Given the description of an element on the screen output the (x, y) to click on. 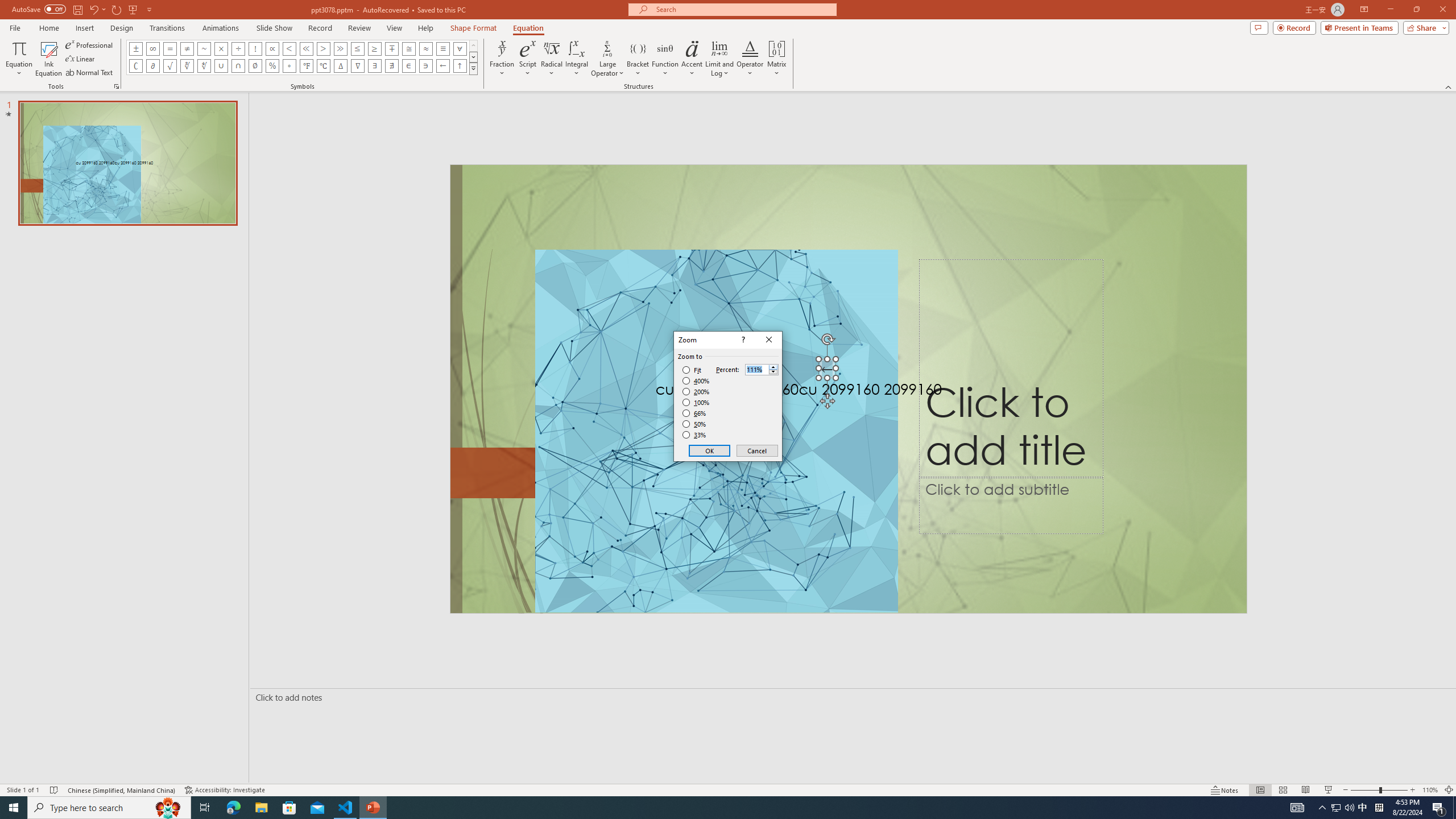
100% (696, 402)
Equation Options... (116, 85)
Linear (81, 58)
Operator (749, 58)
Zoom 110% (1430, 790)
